Given the description of an element on the screen output the (x, y) to click on. 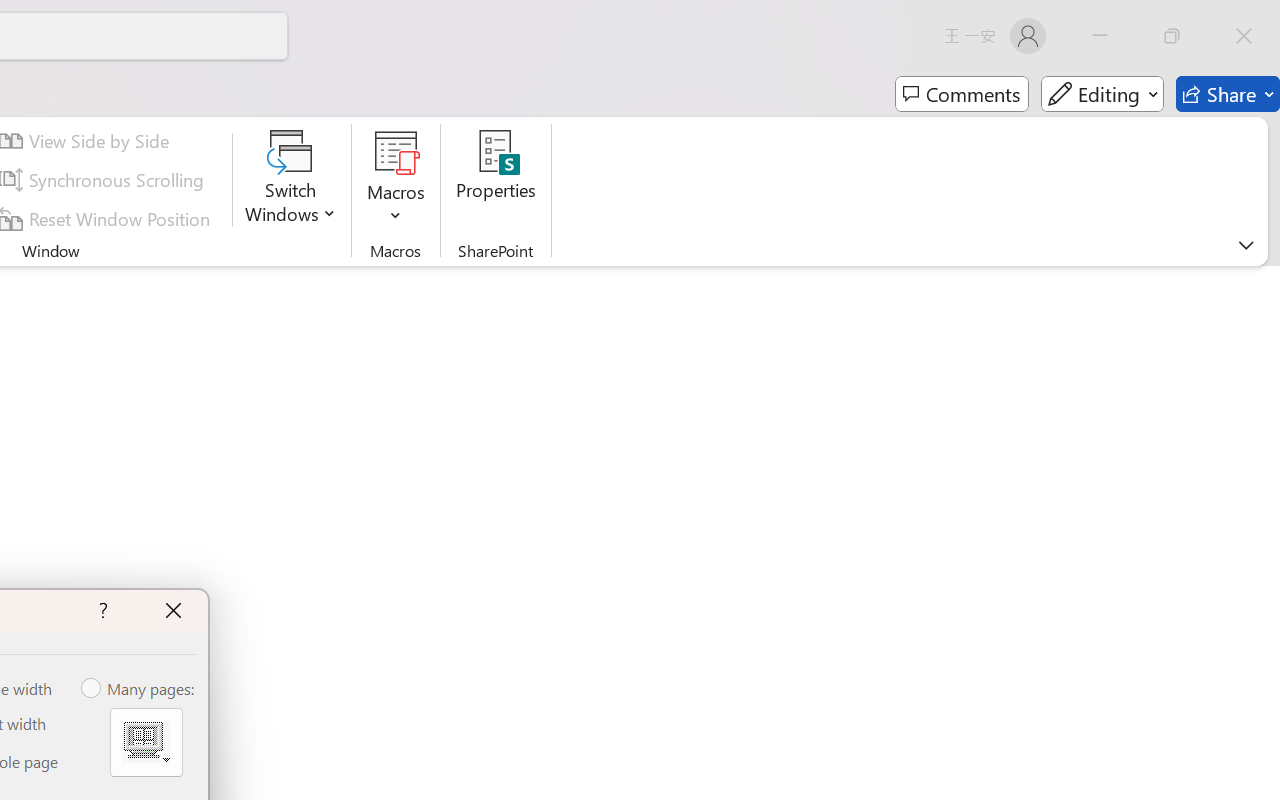
Comments (961, 94)
Ribbon Display Options (1246, 245)
MSO Generic Control Container (146, 742)
